Given the description of an element on the screen output the (x, y) to click on. 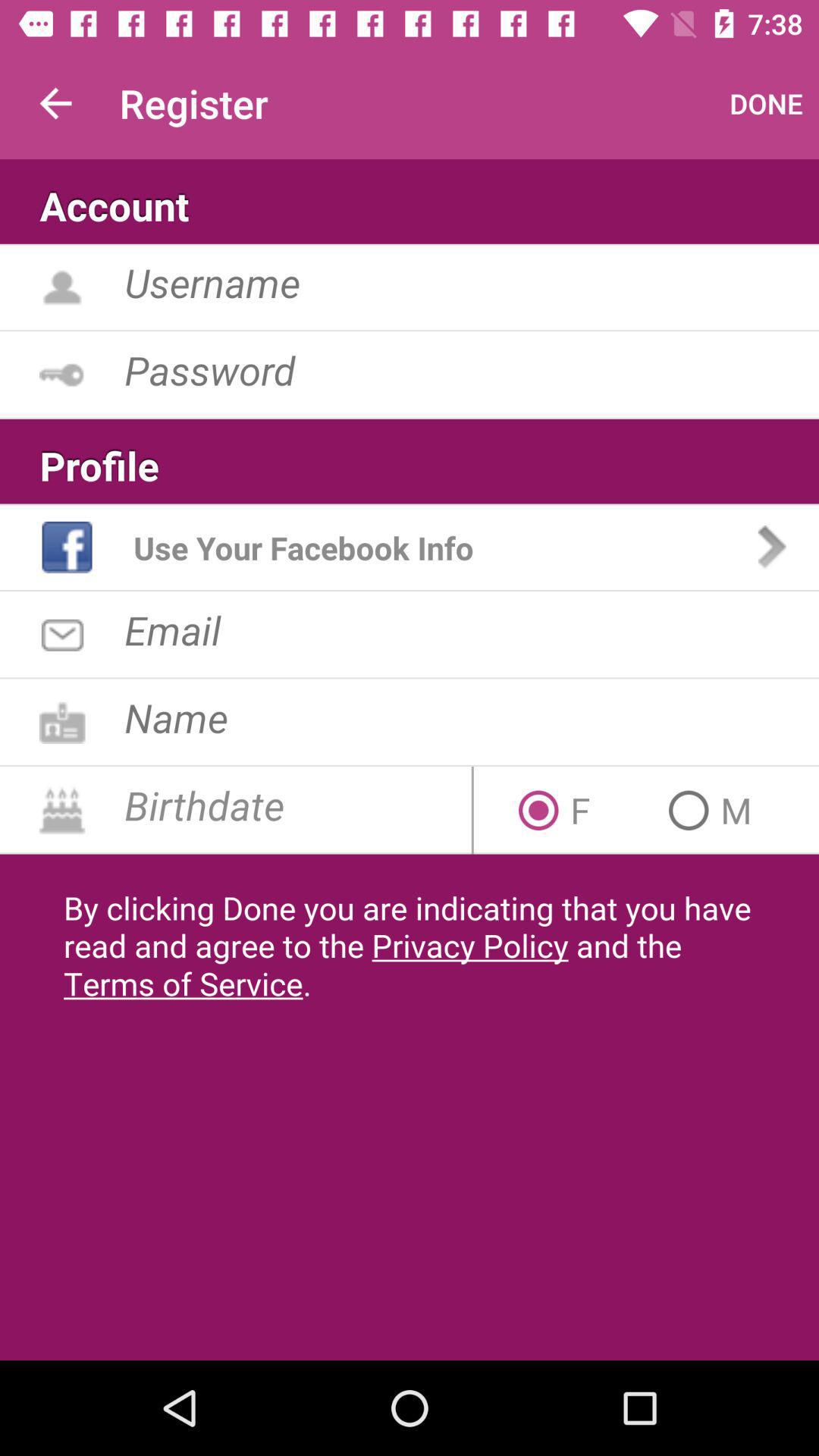
opens text to input email address (471, 629)
